Given the description of an element on the screen output the (x, y) to click on. 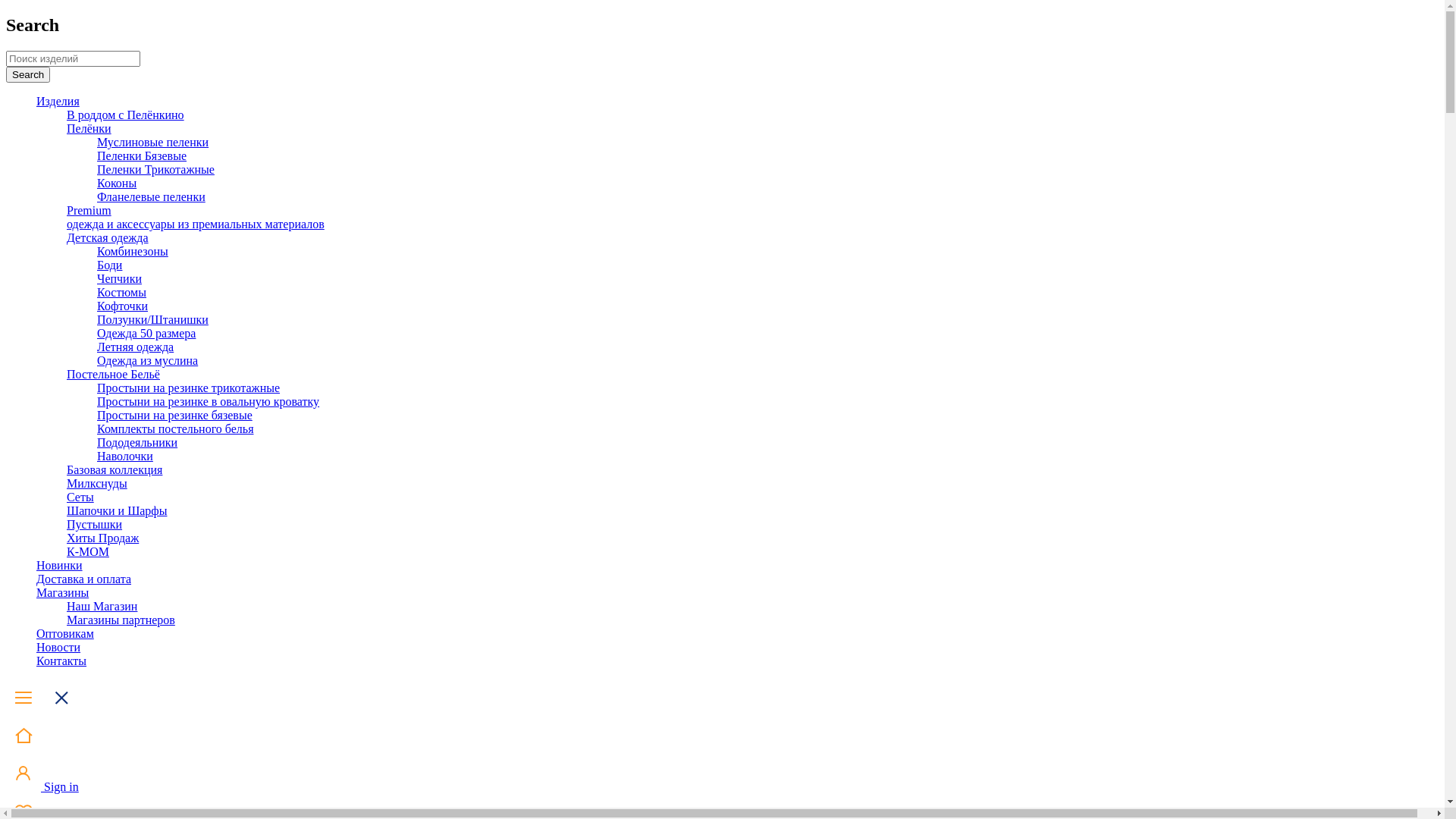
Search Element type: text (28, 74)
Sign in Element type: text (42, 786)
